Given the description of an element on the screen output the (x, y) to click on. 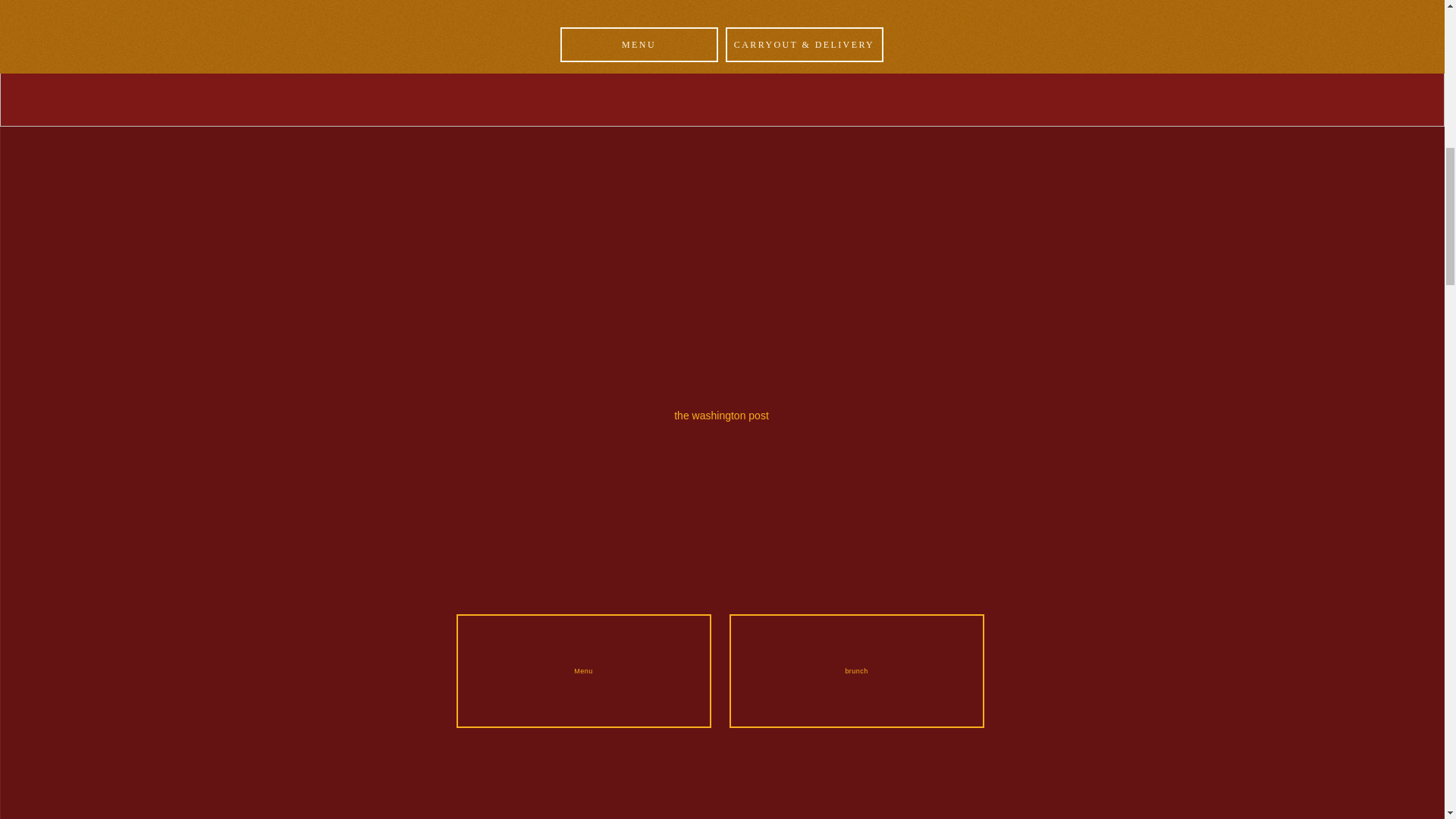
Menu (584, 671)
brunch (856, 671)
